Given the description of an element on the screen output the (x, y) to click on. 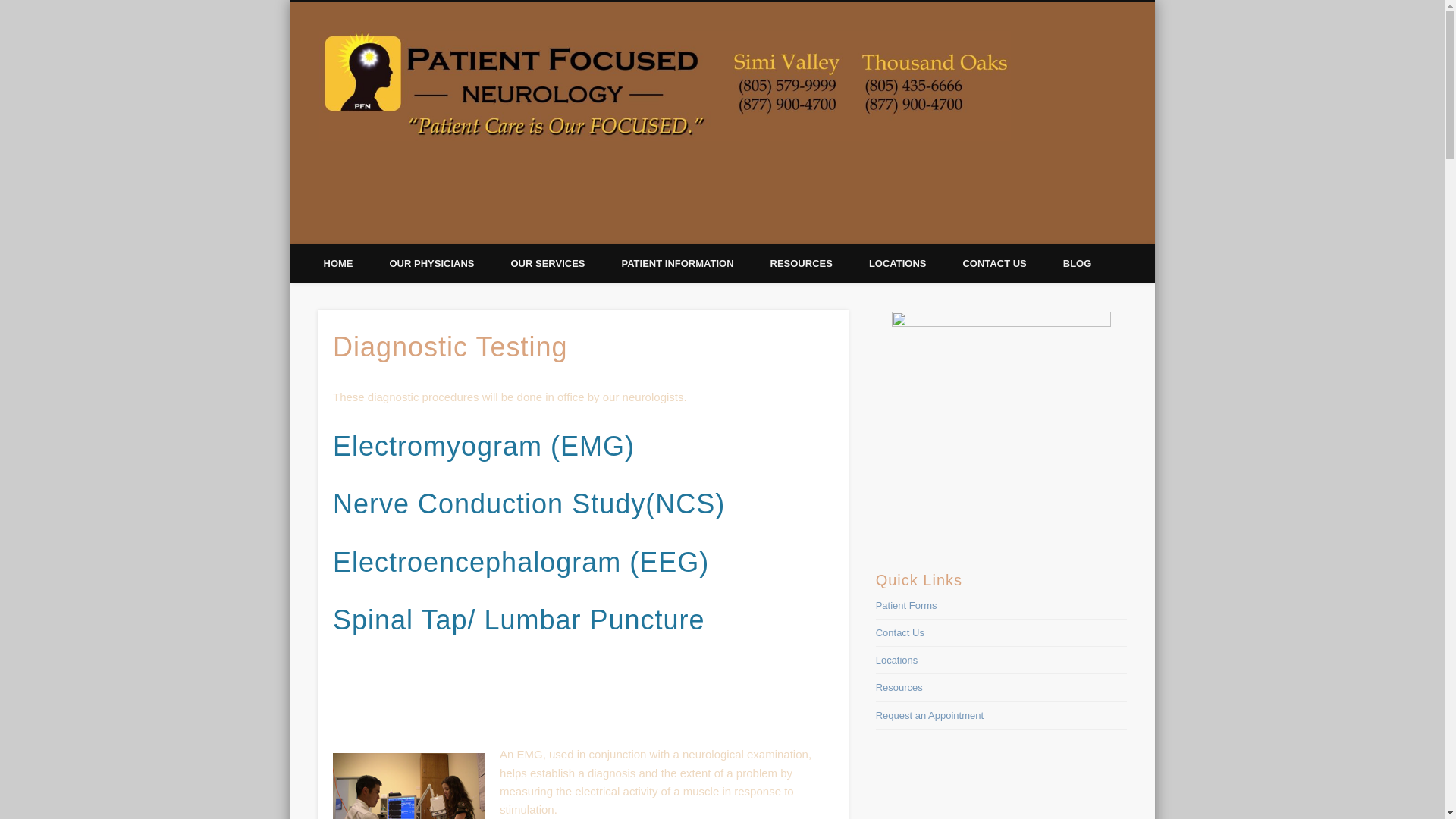
OUR SERVICES (547, 263)
Twitter (1074, 227)
LOCATIONS (897, 263)
PATIENT INFORMATION (676, 263)
Vimeo (1106, 227)
BLOG (1077, 263)
CONTACT US (993, 263)
Facebook (1042, 227)
HOME (337, 263)
OUR PHYSICIANS (432, 263)
Search (11, 7)
RESOURCES (801, 263)
